Given the description of an element on the screen output the (x, y) to click on. 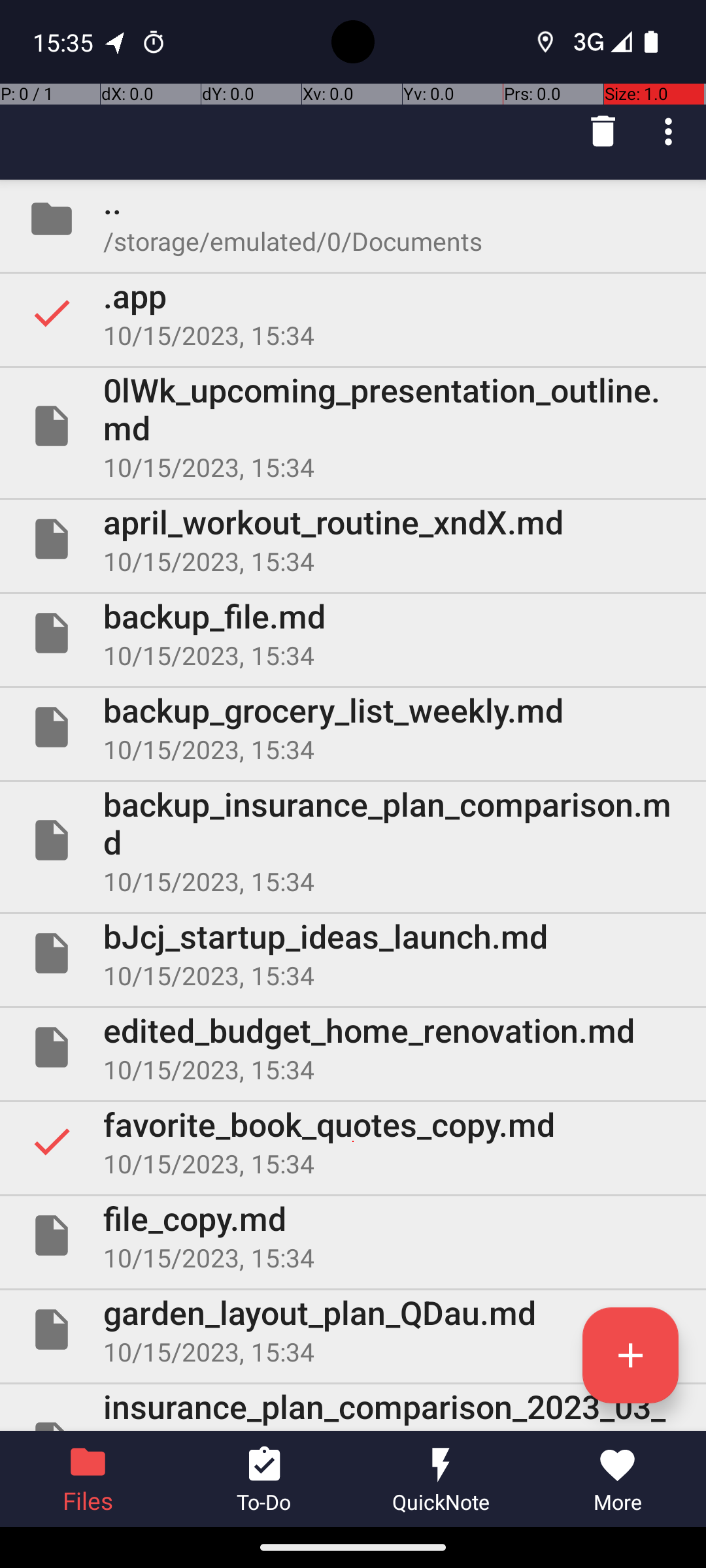
Selected .app  Element type: android.widget.LinearLayout (353, 312)
File 0lWk_upcoming_presentation_outline.md  Element type: android.widget.LinearLayout (353, 425)
File april_workout_routine_xndX.md  Element type: android.widget.LinearLayout (353, 538)
File backup_file.md  Element type: android.widget.LinearLayout (353, 632)
File backup_grocery_list_weekly.md  Element type: android.widget.LinearLayout (353, 726)
File backup_insurance_plan_comparison.md  Element type: android.widget.LinearLayout (353, 840)
File bJcj_startup_ideas_launch.md  Element type: android.widget.LinearLayout (353, 953)
File edited_budget_home_renovation.md  Element type: android.widget.LinearLayout (353, 1047)
Selected favorite_book_quotes_copy.md 10/15/2023, 15:34 Element type: android.widget.LinearLayout (353, 1141)
File file_copy.md  Element type: android.widget.LinearLayout (353, 1235)
File garden_layout_plan_QDau.md  Element type: android.widget.LinearLayout (353, 1329)
File insurance_plan_comparison_2023_03_26.md  Element type: android.widget.LinearLayout (353, 1407)
